Given the description of an element on the screen output the (x, y) to click on. 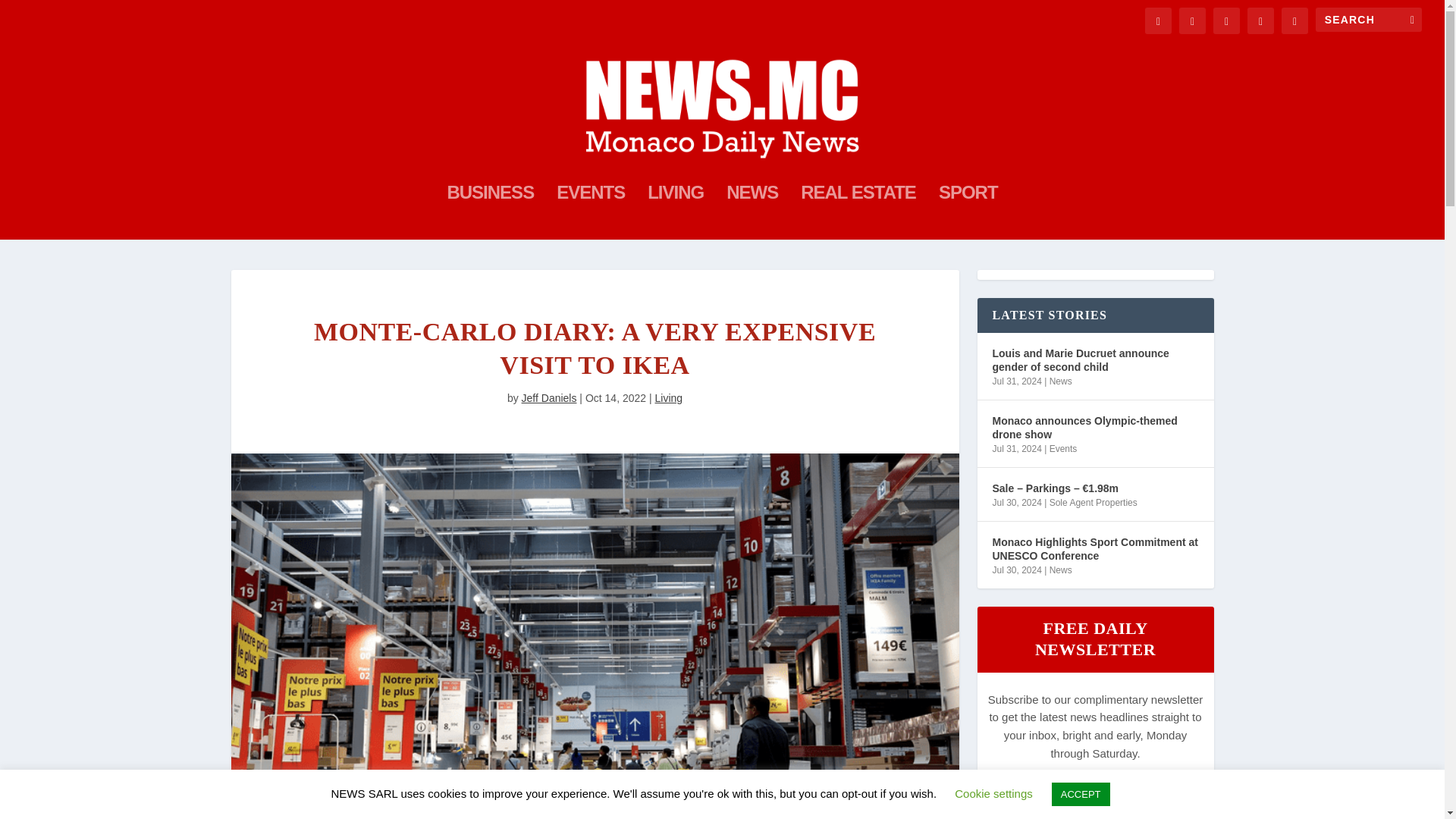
Posts by Jeff Daniels (548, 398)
Search for: (1369, 19)
LIVING (675, 212)
EVENTS (590, 212)
SPORT (968, 212)
REAL ESTATE (857, 212)
BUSINESS (490, 212)
NEWS (751, 212)
